Given the description of an element on the screen output the (x, y) to click on. 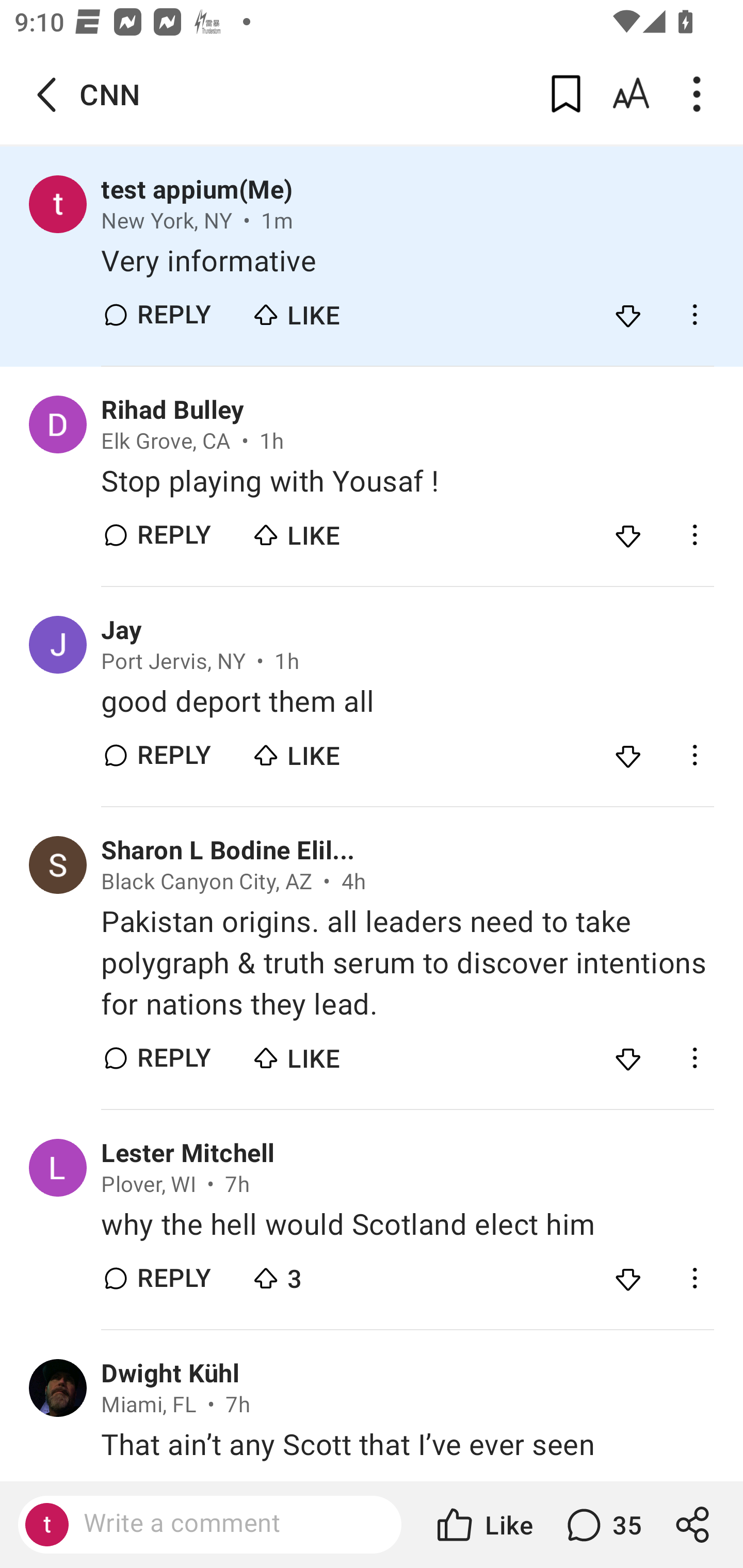
test appium(Me) (196, 190)
Very informative (407, 261)
LIKE (320, 310)
REPLY (173, 314)
Rihad Bulley (172, 409)
Stop playing with Yousaf !  (407, 481)
LIKE (320, 530)
REPLY (173, 535)
Jay (121, 631)
good deport them all (407, 702)
LIKE (320, 750)
REPLY (173, 754)
Sharon L Bodine Elil... (228, 850)
LIKE (320, 1053)
REPLY (173, 1057)
Lester Mitchell (187, 1153)
why the hell would Scotland elect him (407, 1224)
3 (320, 1273)
REPLY (173, 1278)
Dwight Kühl (170, 1374)
That ain’t any Scott that I’ve ever seen (407, 1445)
Like (483, 1524)
35 (601, 1524)
Write a comment (226, 1523)
